Given the description of an element on the screen output the (x, y) to click on. 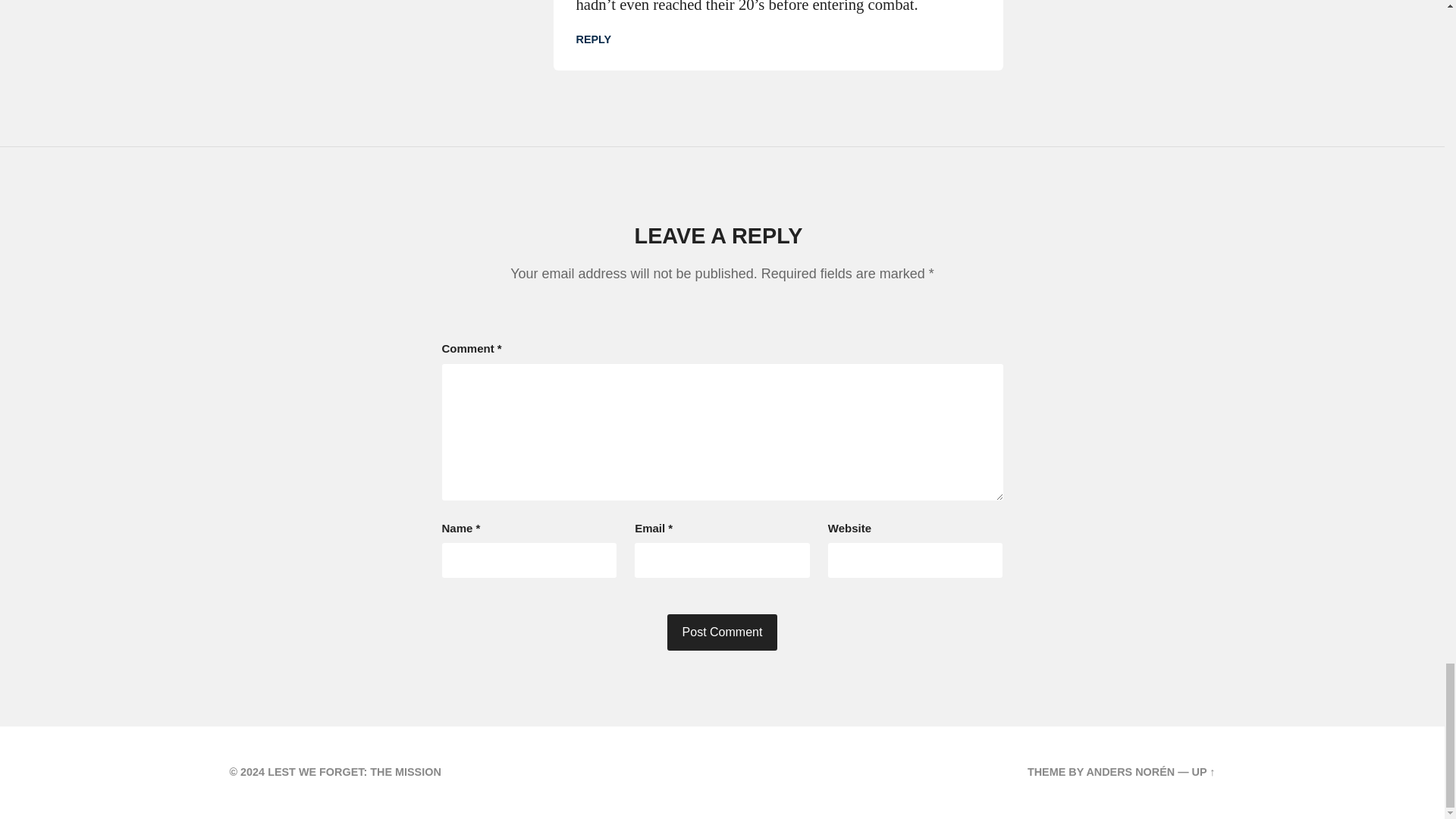
Post Comment (721, 632)
